Given the description of an element on the screen output the (x, y) to click on. 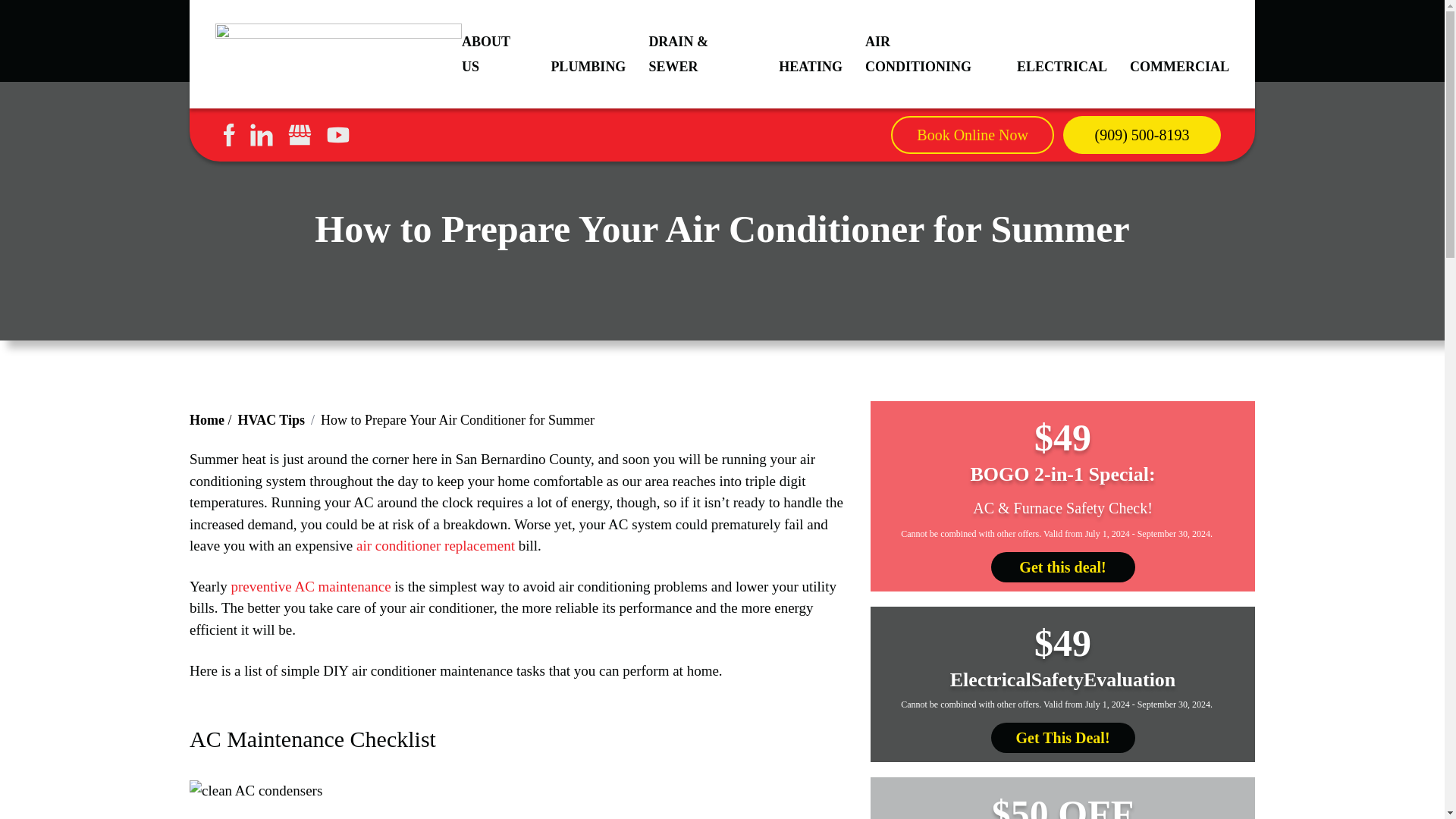
AIR CONDITIONING (929, 53)
ABOUT US (494, 53)
HEATING (810, 66)
PLUMBING (588, 66)
